Given the description of an element on the screen output the (x, y) to click on. 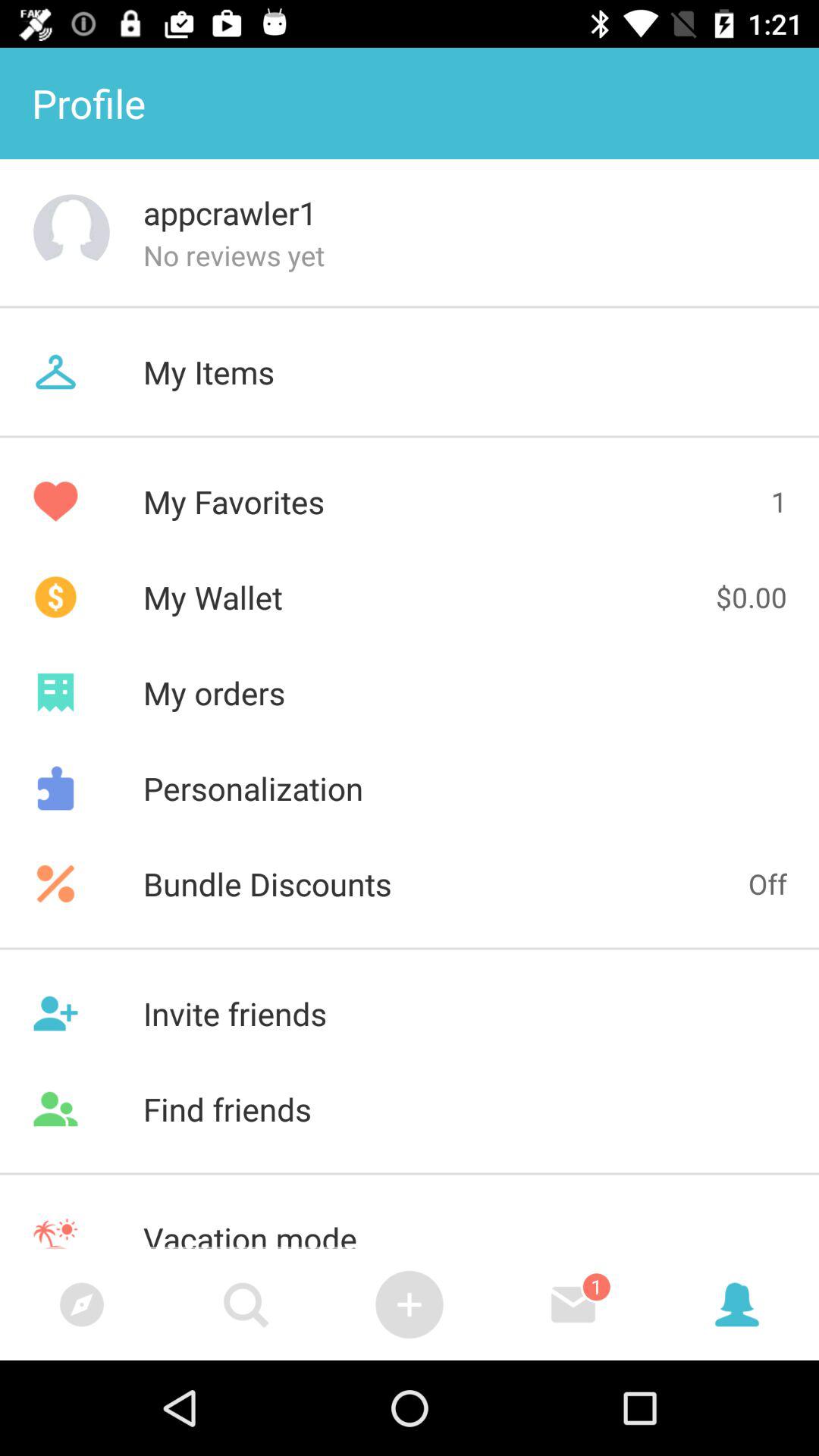
select item above find friends icon (409, 1013)
